Given the description of an element on the screen output the (x, y) to click on. 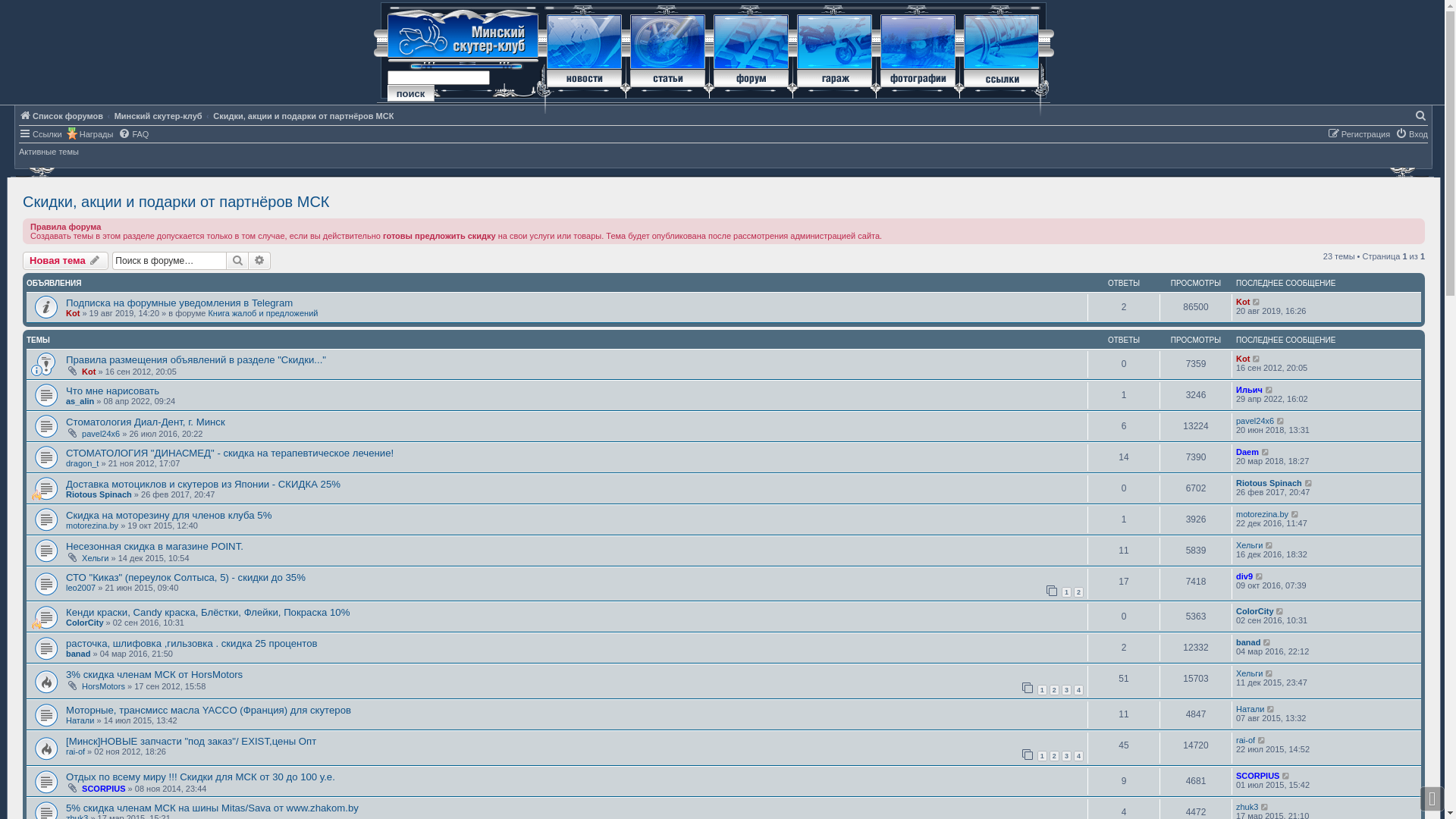
2 Element type: text (1078, 591)
SCORPIUS Element type: text (103, 788)
banad Element type: text (1248, 641)
rai-of Element type: text (74, 751)
1 Element type: text (1042, 755)
div9 Element type: text (1244, 575)
ColorCity Element type: text (1255, 610)
dragon_t Element type: text (81, 462)
ColorCity Element type: text (84, 622)
as_alin Element type: text (79, 400)
Riotous Spinach Element type: text (98, 493)
Kot Element type: text (88, 371)
leo2007 Element type: text (80, 587)
4 Element type: text (1078, 689)
pavel24x6 Element type: text (1255, 420)
motorezina.by Element type: text (1262, 513)
Kot Element type: text (1242, 358)
Riotous Spinach Element type: text (1269, 482)
Daem Element type: text (1247, 451)
2 Element type: text (1054, 689)
3 Element type: text (1066, 689)
2 Element type: text (1054, 755)
FAQ Element type: text (133, 133)
HorsMotors Element type: text (103, 685)
rai-of Element type: text (1245, 739)
banad Element type: text (77, 653)
1 Element type: text (1066, 591)
Kot Element type: text (1242, 301)
Kot Element type: text (72, 312)
3 Element type: text (1066, 755)
zhuk3 Element type: text (1247, 806)
motorezina.by Element type: text (91, 525)
SCORPIUS Element type: text (1257, 775)
4 Element type: text (1078, 755)
pavel24x6 Element type: text (100, 433)
1 Element type: text (1042, 689)
